Given the description of an element on the screen output the (x, y) to click on. 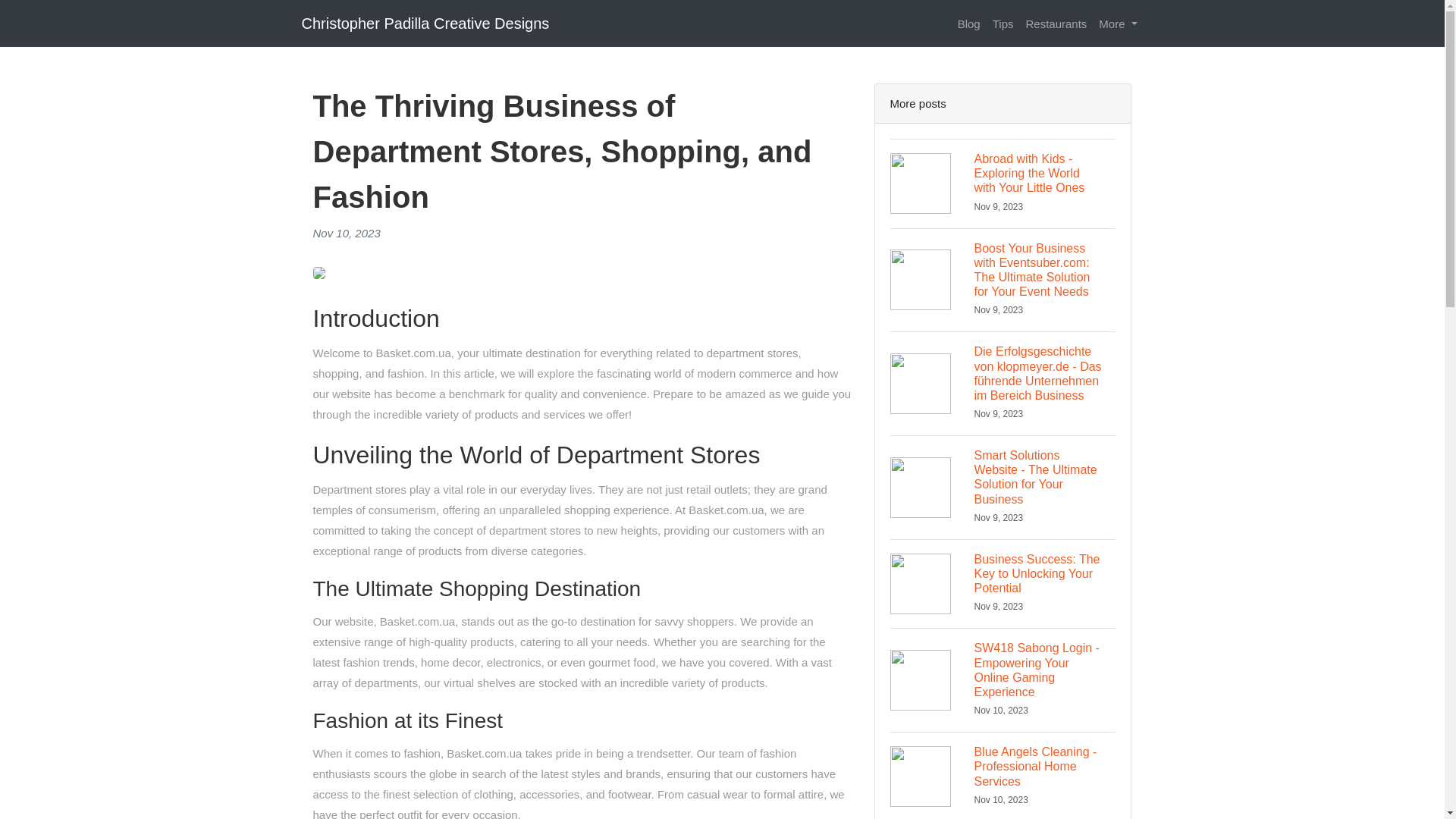
Restaurants (1056, 23)
Tips (1003, 23)
More (1117, 23)
Blog (969, 23)
Christopher Padilla Creative Designs (425, 22)
